Given the description of an element on the screen output the (x, y) to click on. 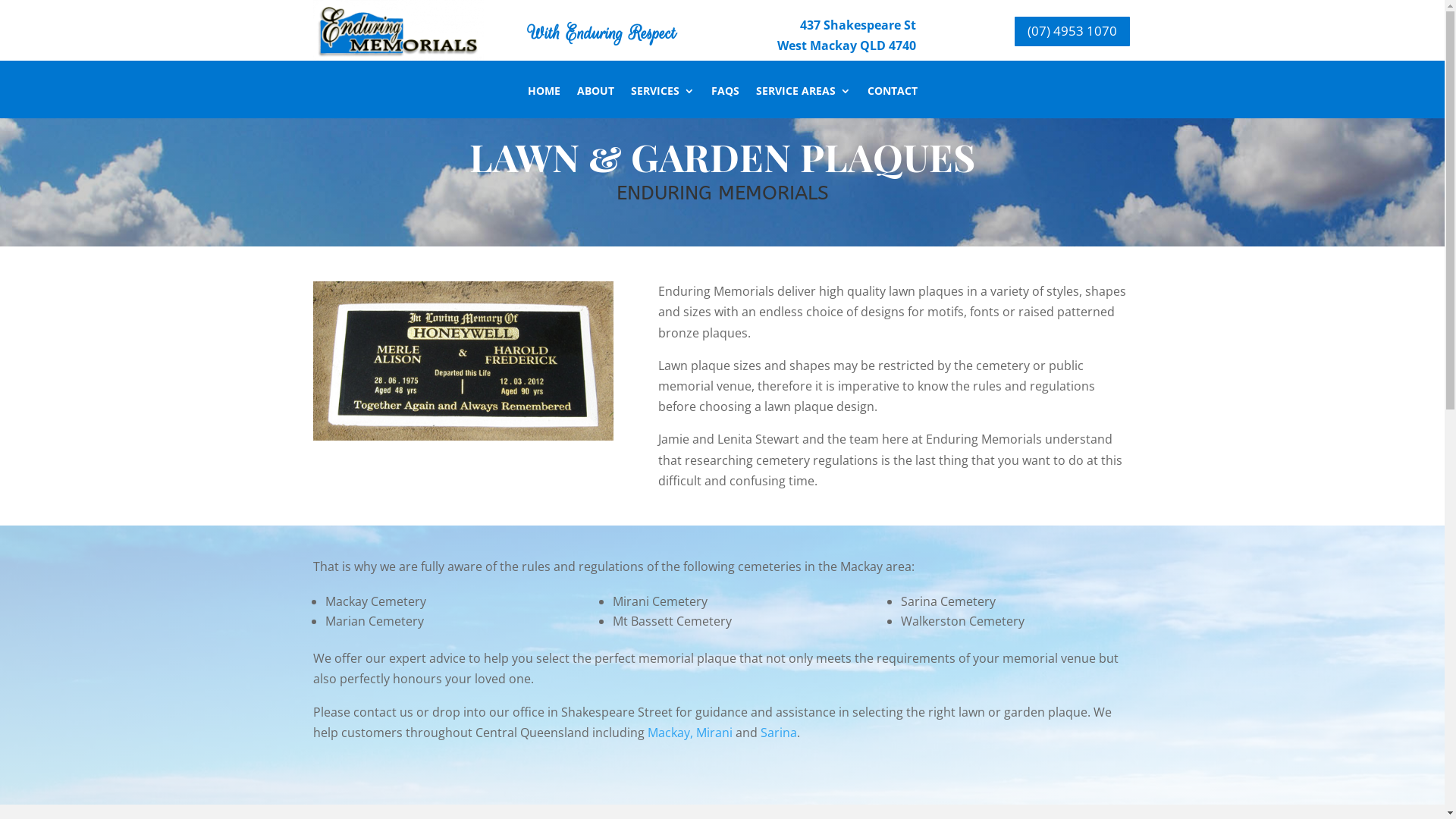
lawn_img1 Element type: hover (462, 360)
SERVICE AREAS Element type: text (802, 101)
Mackay, Element type: text (670, 732)
Sarina Element type: text (777, 732)
Mirani Element type: text (714, 732)
(07) 4953 1070 Element type: text (1072, 31)
FAQS Element type: text (725, 101)
Enduring Memorials Logo Element type: hover (397, 30)
HOME Element type: text (543, 101)
SERVICES Element type: text (662, 101)
ABOUT Element type: text (594, 101)
CONTACT Element type: text (892, 101)
